Given the description of an element on the screen output the (x, y) to click on. 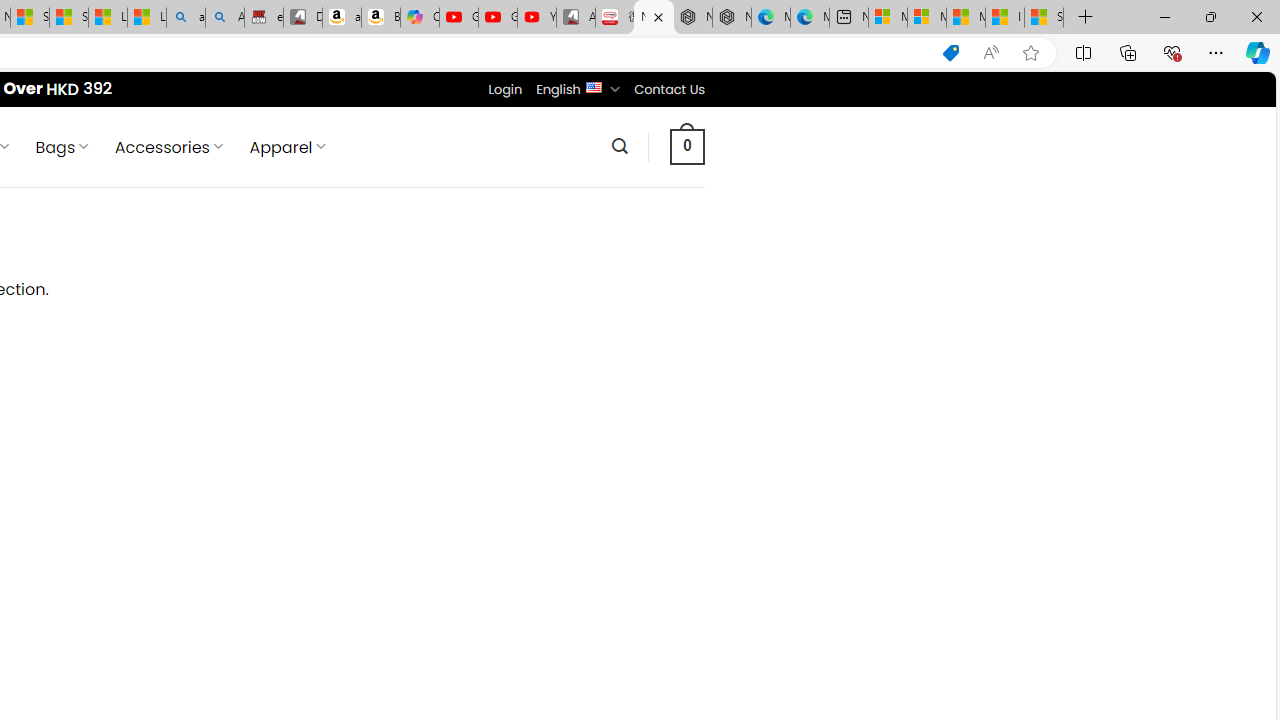
Nordace - Nordace has arrived Hong Kong (732, 17)
This site has coupons! Shopping in Microsoft Edge (950, 53)
Gloom - YouTube (497, 17)
All Cubot phones (575, 17)
